Given the description of an element on the screen output the (x, y) to click on. 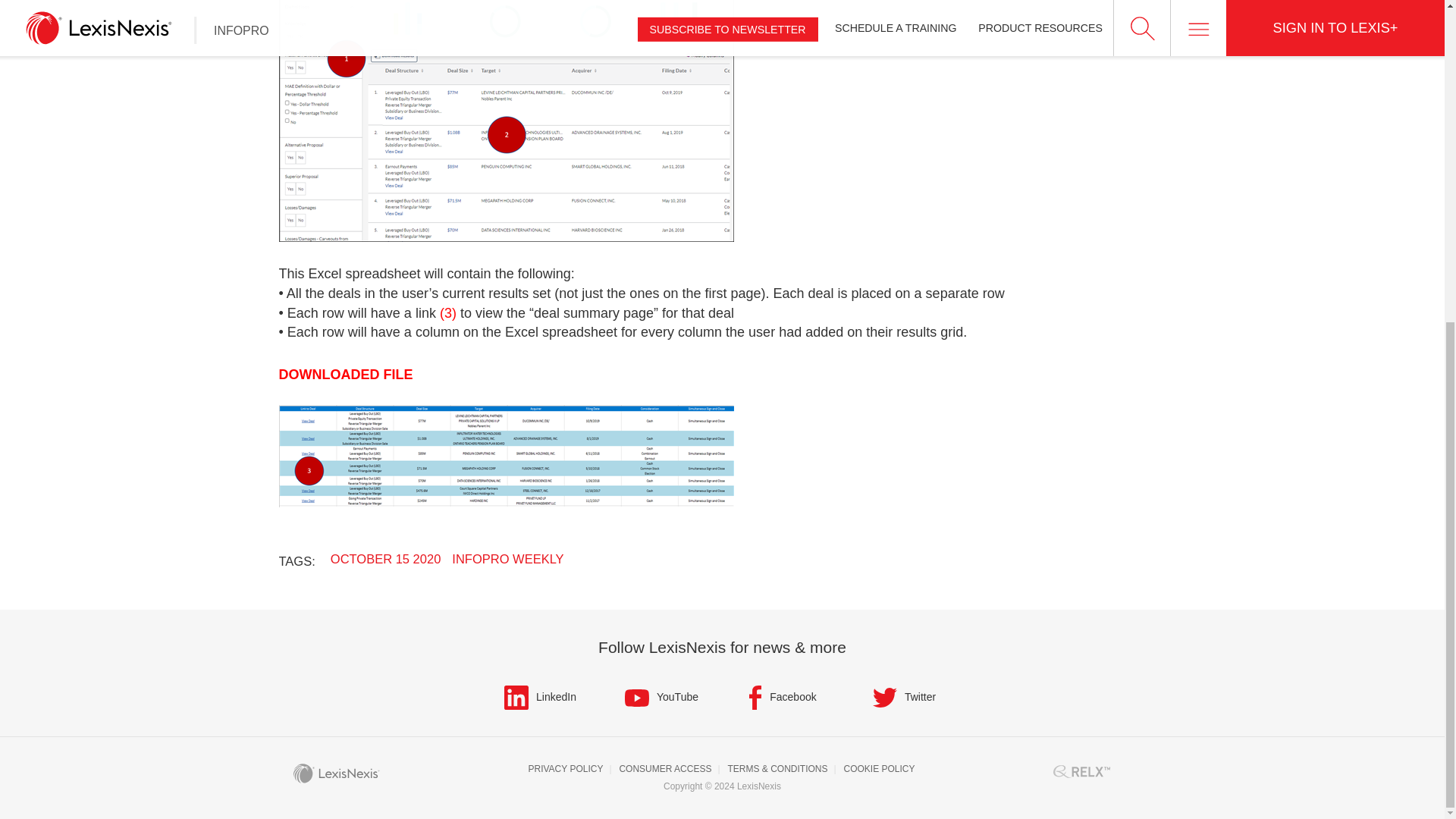
Twitter (903, 697)
LinkedIn (539, 697)
CONSUMER ACCESS (664, 768)
PRIVACY POLICY (566, 768)
RELX (1081, 771)
COOKIE POLICY (879, 768)
INFOPRO WEEKLY (507, 558)
LexisNexis (335, 773)
YouTube (660, 697)
Facebook (782, 697)
